Given the description of an element on the screen output the (x, y) to click on. 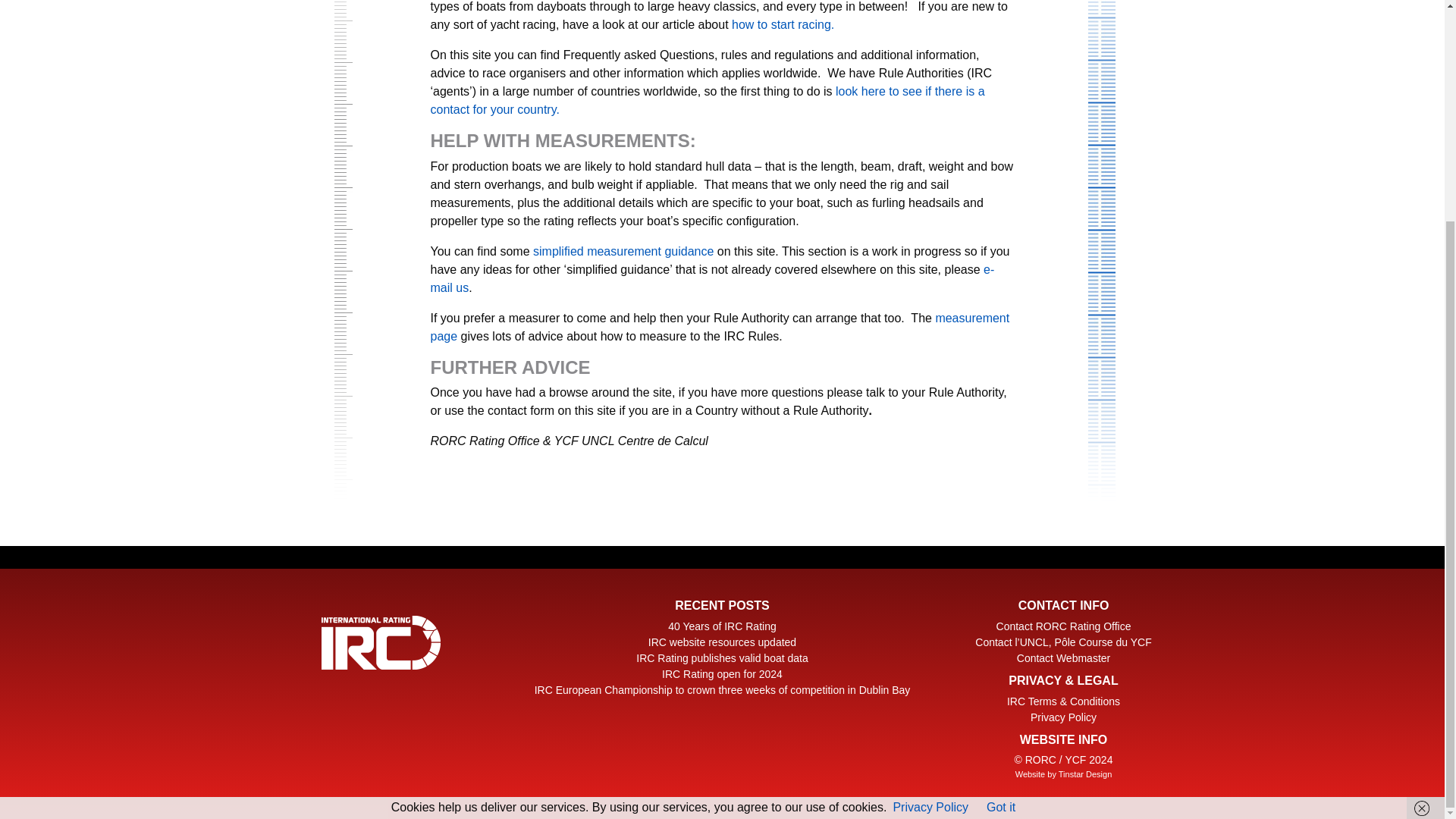
IRC Rating (381, 642)
Website Tinstar Design (1063, 774)
